Given the description of an element on the screen output the (x, y) to click on. 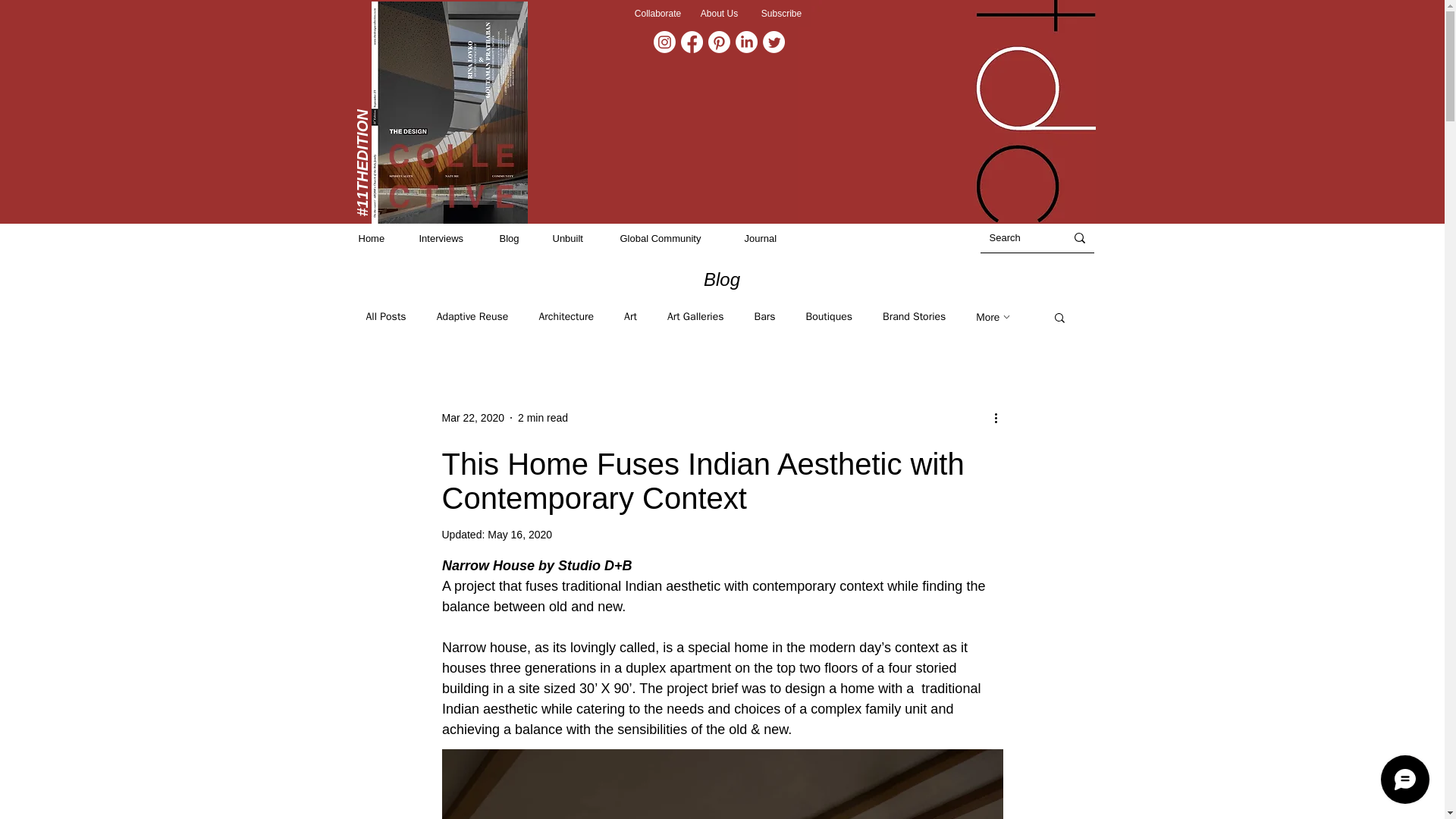
Art Galleries (694, 316)
Interviews (451, 238)
About Us (719, 13)
Global Community (674, 238)
May 16, 2020 (519, 534)
Mar 22, 2020 (472, 417)
Collaborate (657, 13)
Bars (765, 316)
Blog (518, 238)
Adaptive Reuse (472, 316)
Brand Stories (913, 316)
Unbuilt (577, 238)
Home (380, 238)
All Posts (385, 316)
Journal (769, 238)
